Given the description of an element on the screen output the (x, y) to click on. 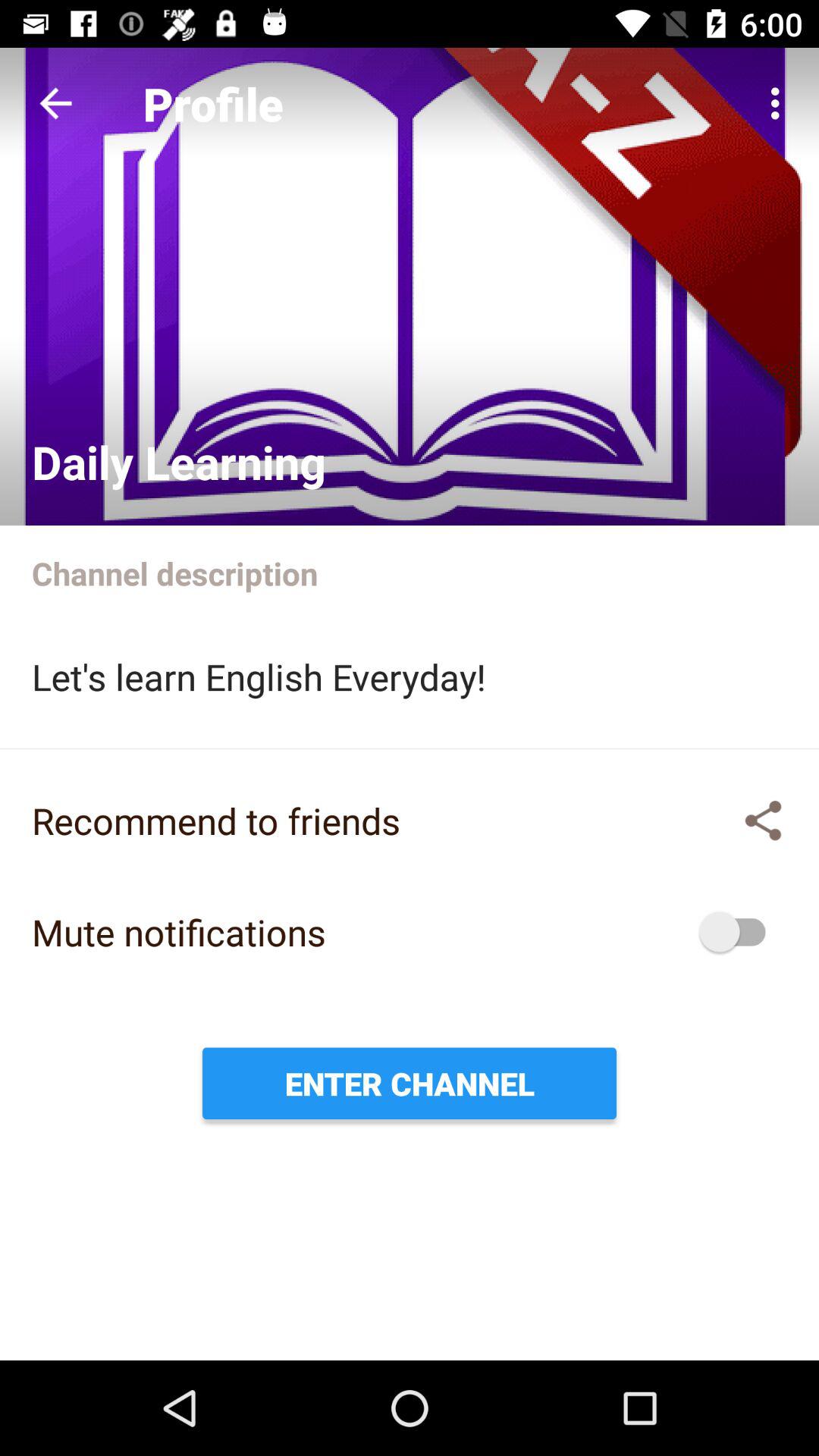
tap the icon above the channel description item (779, 103)
